Given the description of an element on the screen output the (x, y) to click on. 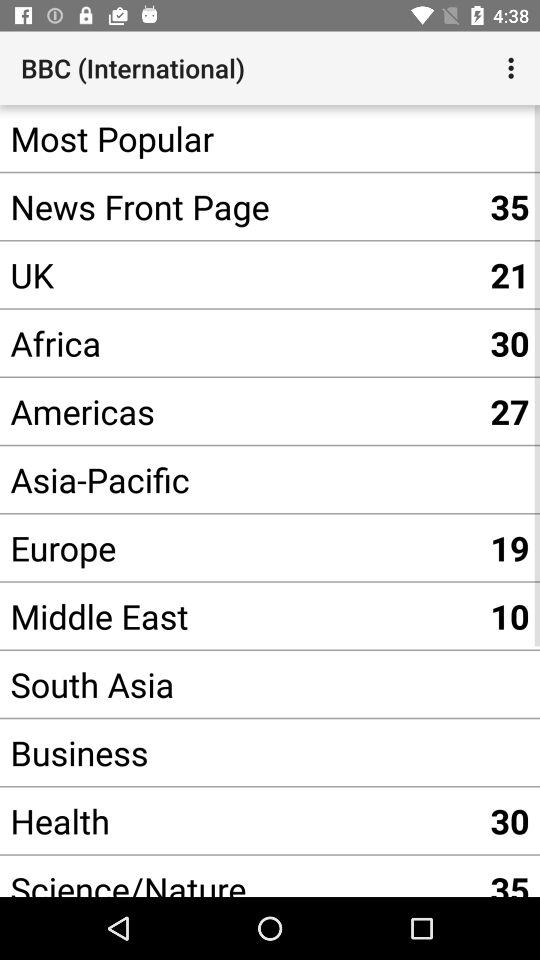
flip to the middle east app (240, 615)
